Given the description of an element on the screen output the (x, y) to click on. 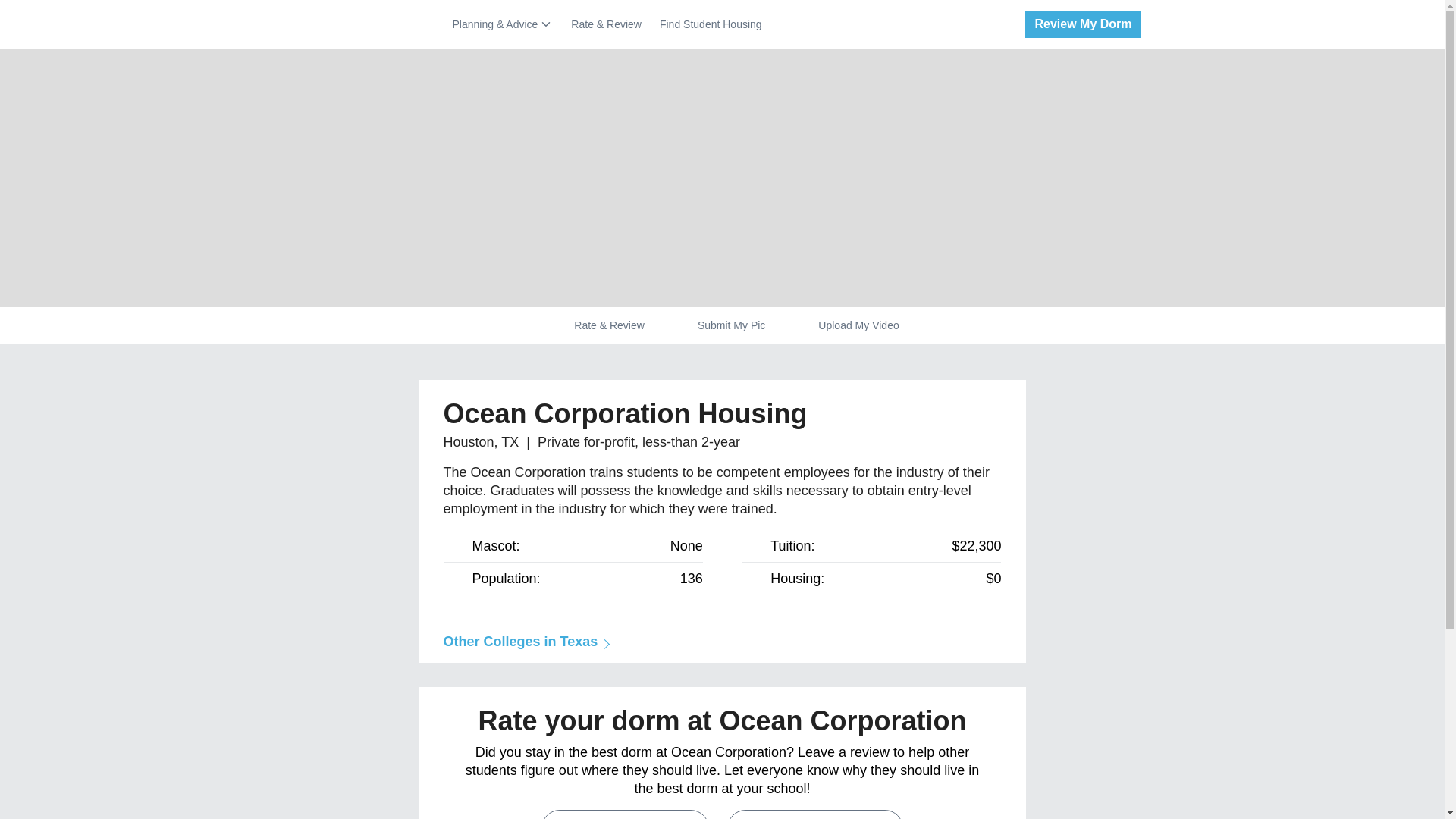
Find Student Housing (710, 24)
Review My Dorm (1076, 23)
Other Colleges in Texas (523, 641)
Upload My Video (858, 324)
Submit My Pic (625, 814)
Submit My Pic (731, 324)
